Given the description of an element on the screen output the (x, y) to click on. 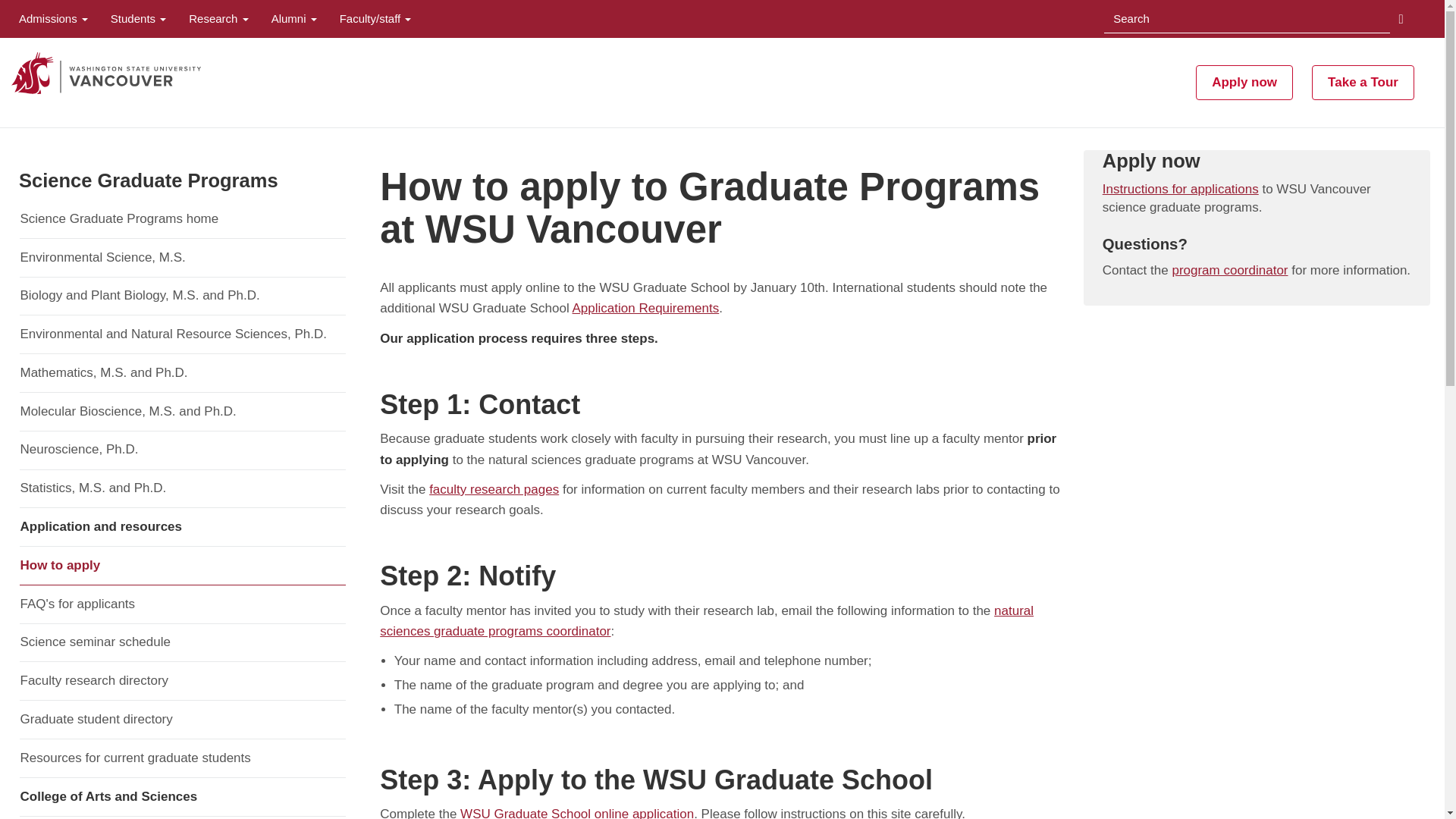
Research (218, 18)
Admissions (53, 18)
Alumni (294, 18)
Students (138, 18)
